Given the description of an element on the screen output the (x, y) to click on. 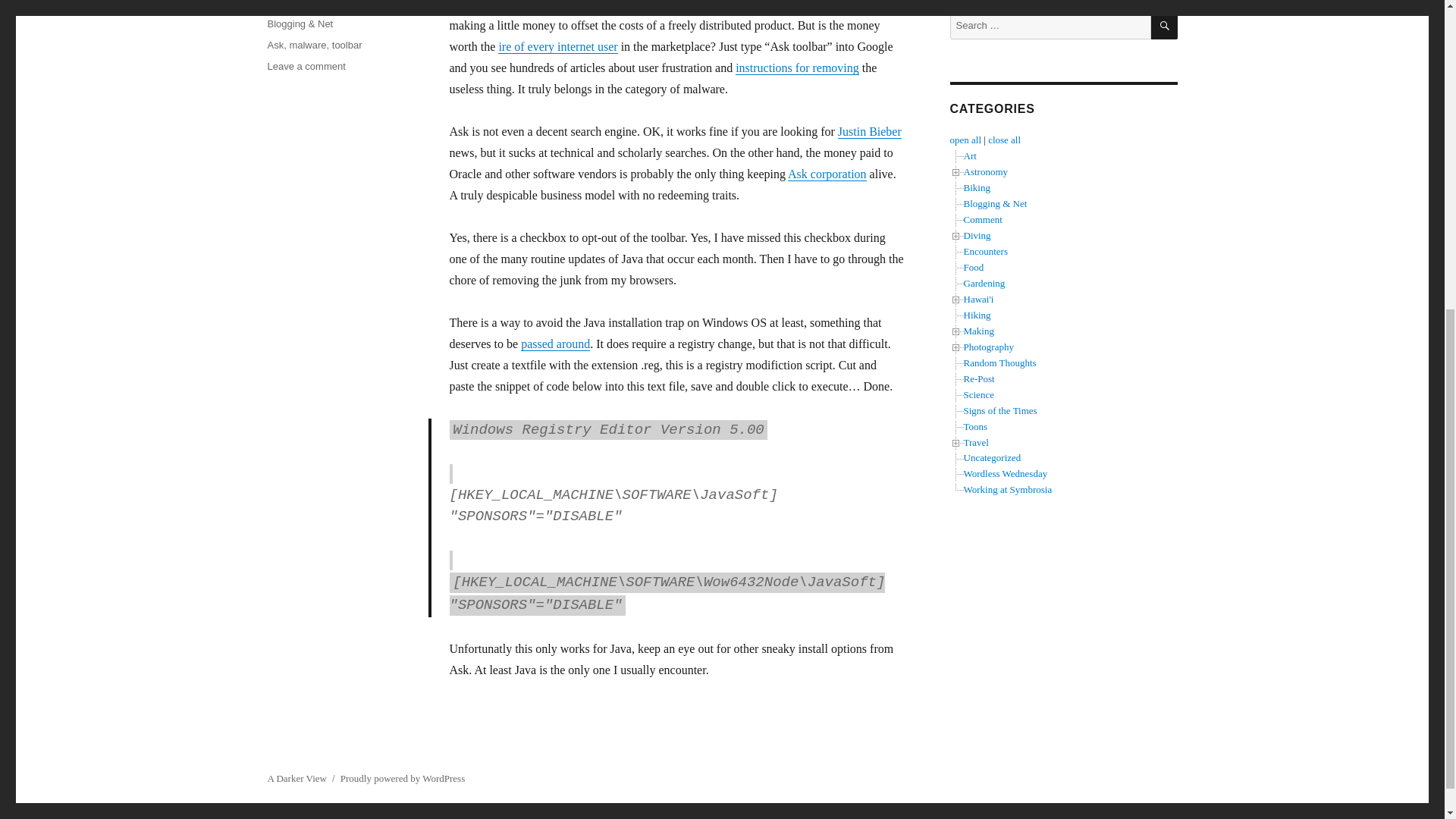
passed around (555, 343)
Astronomy (984, 171)
close all (1004, 139)
open all (965, 139)
Art (968, 155)
Justin Bieber (869, 131)
November 3, 2014 (306, 4)
open all (965, 139)
Ask corporation (826, 173)
